Given the description of an element on the screen output the (x, y) to click on. 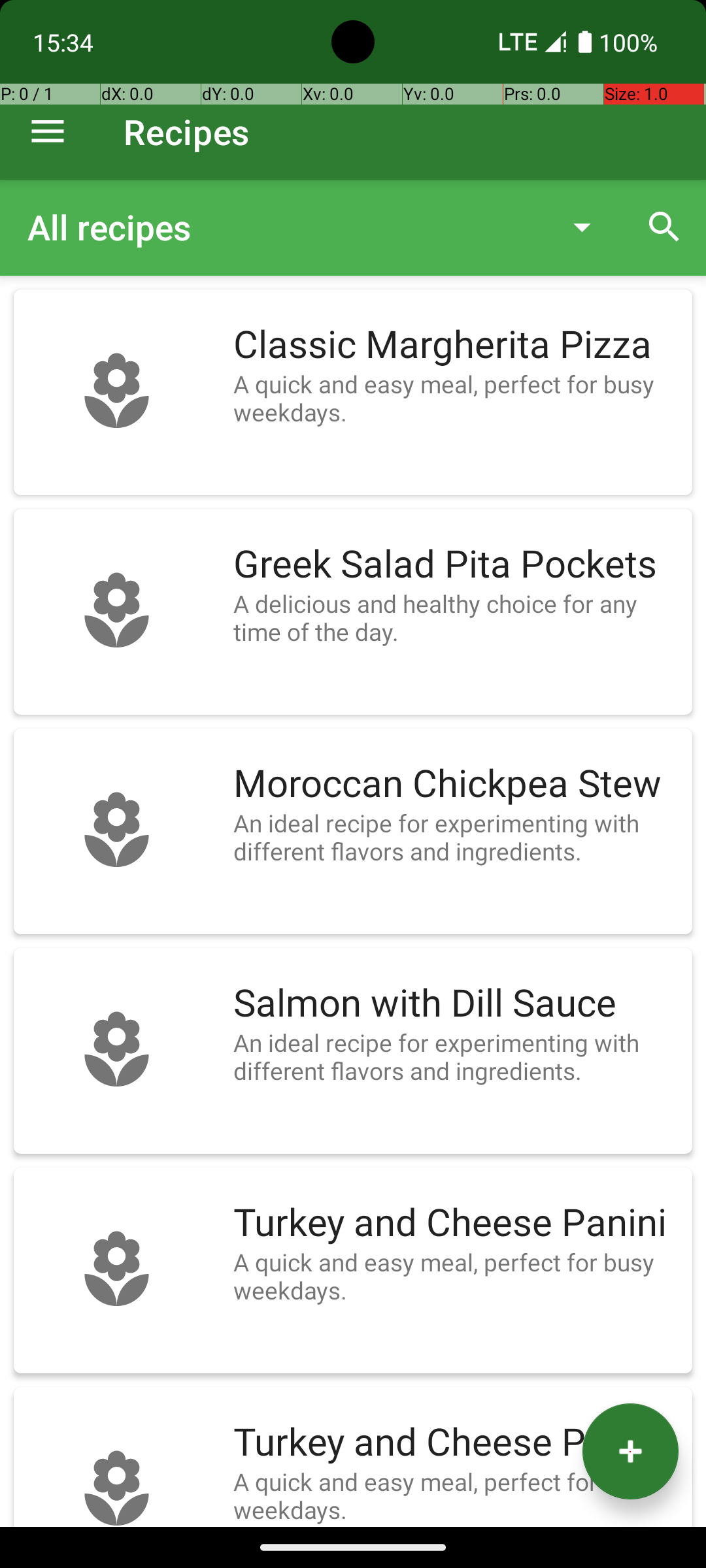
Salmon with Dill Sauce Element type: android.widget.TextView (455, 1003)
Turkey and Cheese Panini Element type: android.widget.TextView (455, 1222)
